Given the description of an element on the screen output the (x, y) to click on. 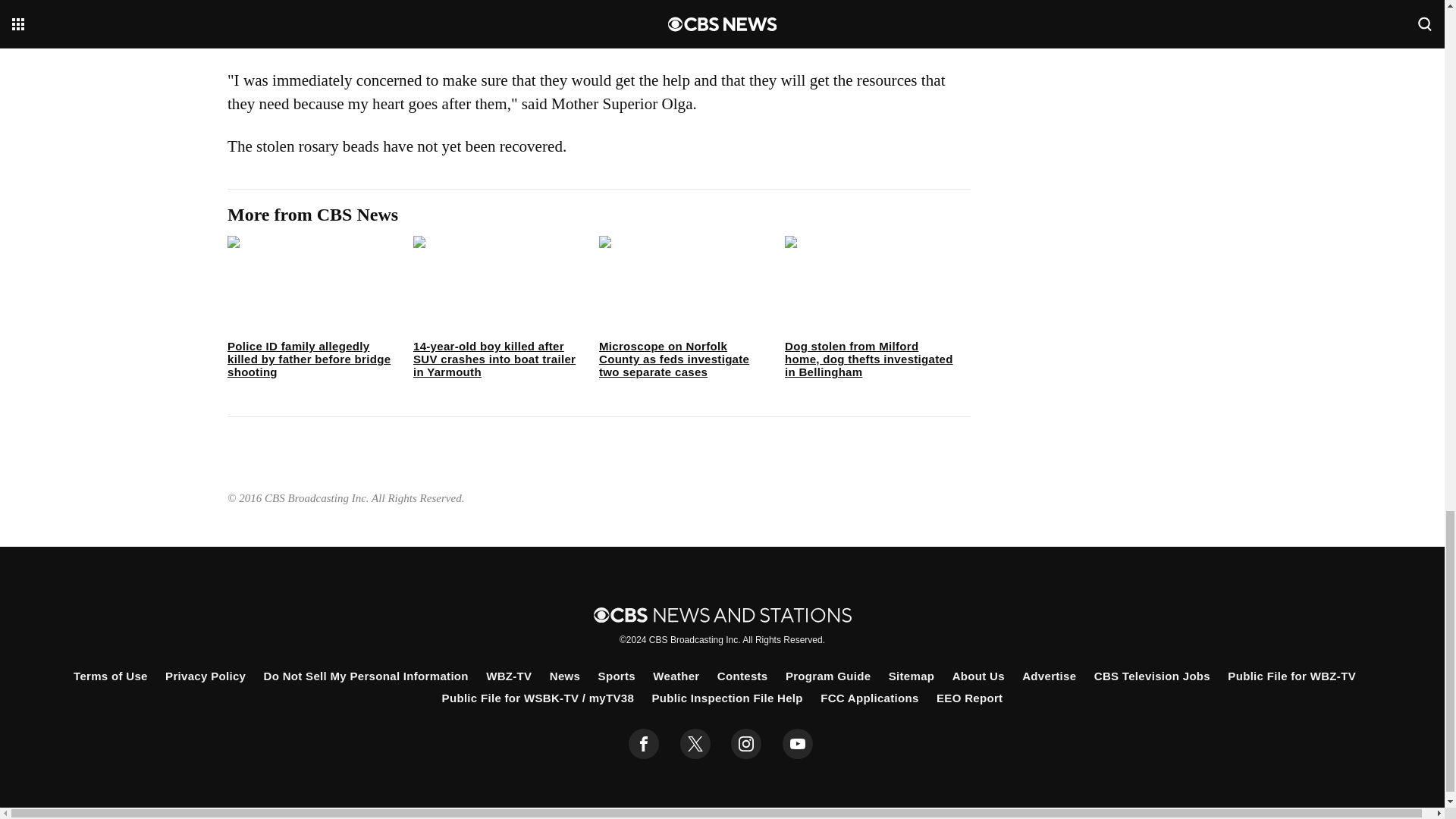
facebook (643, 743)
instagram (745, 743)
twitter (694, 743)
youtube (797, 743)
